Given the description of an element on the screen output the (x, y) to click on. 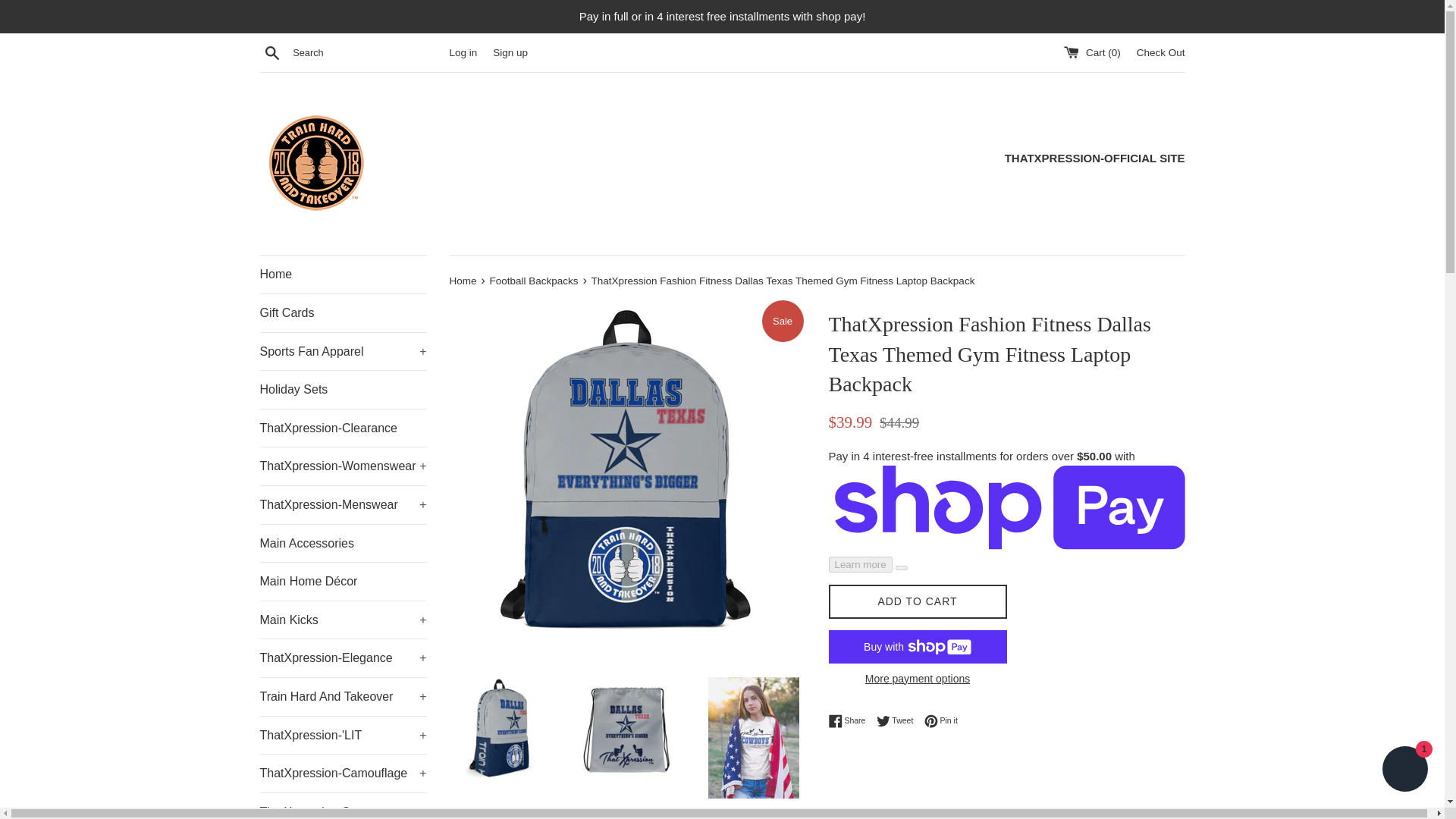
Tweet on Twitter (898, 721)
Shopify online store chat (1404, 770)
Pin on Pinterest (941, 721)
Log in (462, 52)
Gift Cards (342, 313)
Check Out (1161, 52)
Sign up (510, 52)
Search (271, 52)
ThatXpression-Clearance (342, 428)
Share on Facebook (850, 721)
Back to the frontpage (463, 280)
Holiday Sets (342, 389)
Home (342, 274)
